Given the description of an element on the screen output the (x, y) to click on. 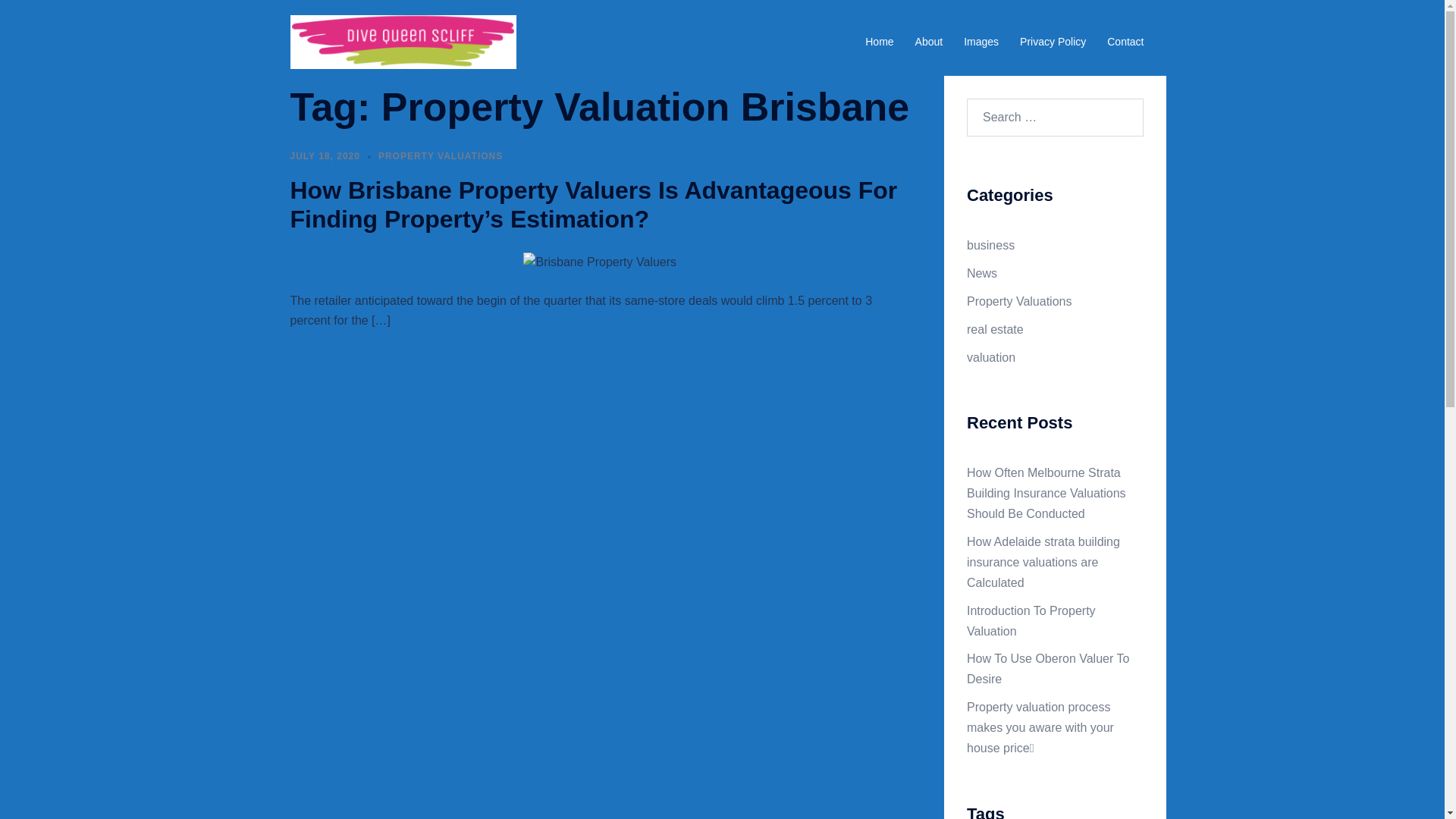
About Element type: text (929, 42)
PROPERTY VALUATIONS Element type: text (440, 155)
How To Use Oberon Valuer To Desire Element type: text (1047, 668)
Dive Queen Scliff Element type: hover (402, 40)
Privacy Policy Element type: text (1052, 42)
Contact Element type: text (1125, 42)
Search Element type: text (49, 18)
News Element type: text (981, 272)
JULY 18, 2020 Element type: text (324, 155)
Property Valuations Element type: text (1018, 300)
Introduction To Property Valuation Element type: text (1030, 620)
real estate Element type: text (994, 329)
Images Element type: text (980, 42)
business Element type: text (990, 244)
Home Element type: text (879, 42)
valuation Element type: text (990, 356)
